Given the description of an element on the screen output the (x, y) to click on. 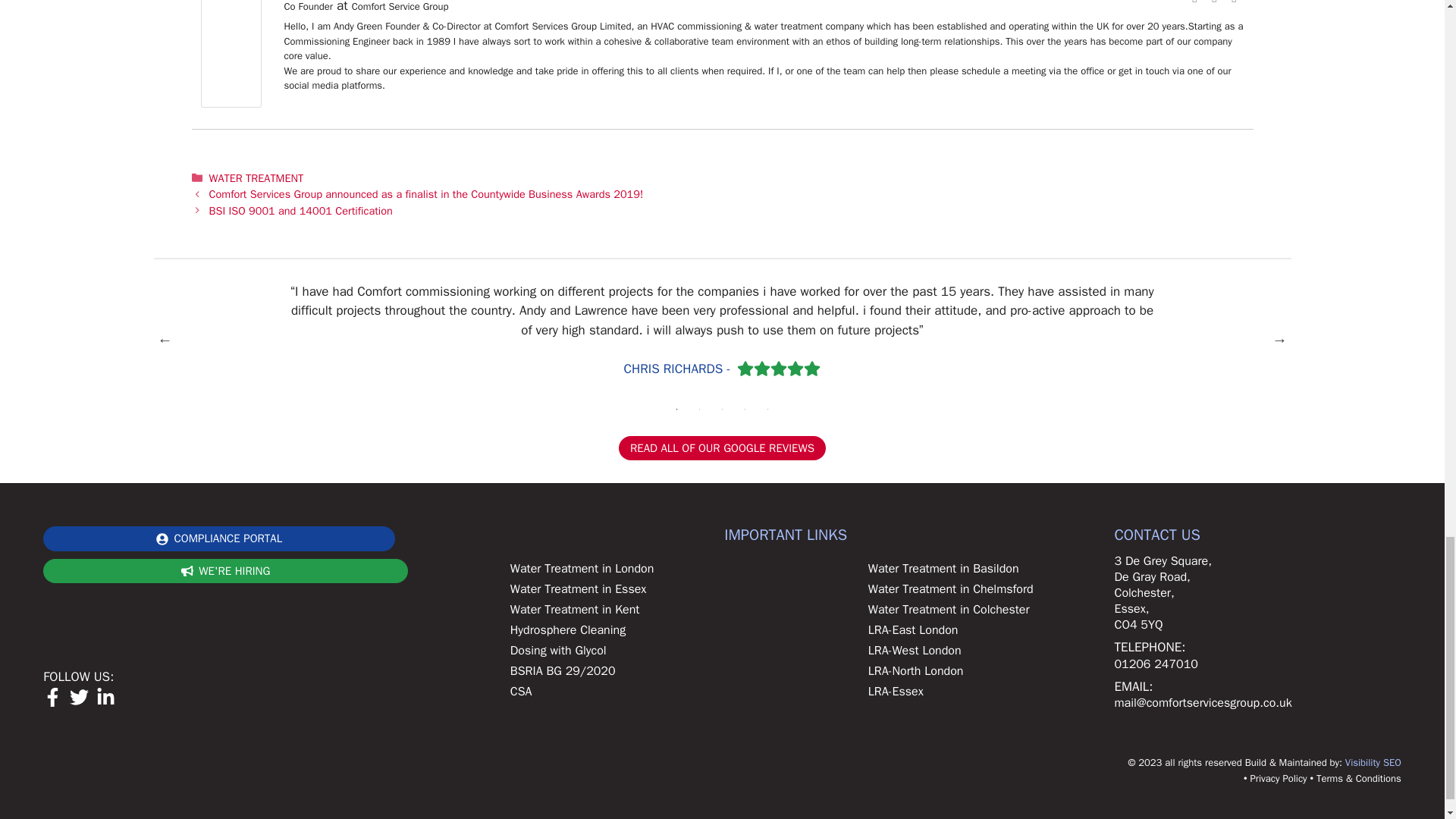
LinkedIn (1214, 2)
YouTube (1234, 2)
Andy Green (230, 103)
Facebook (1195, 2)
